Given the description of an element on the screen output the (x, y) to click on. 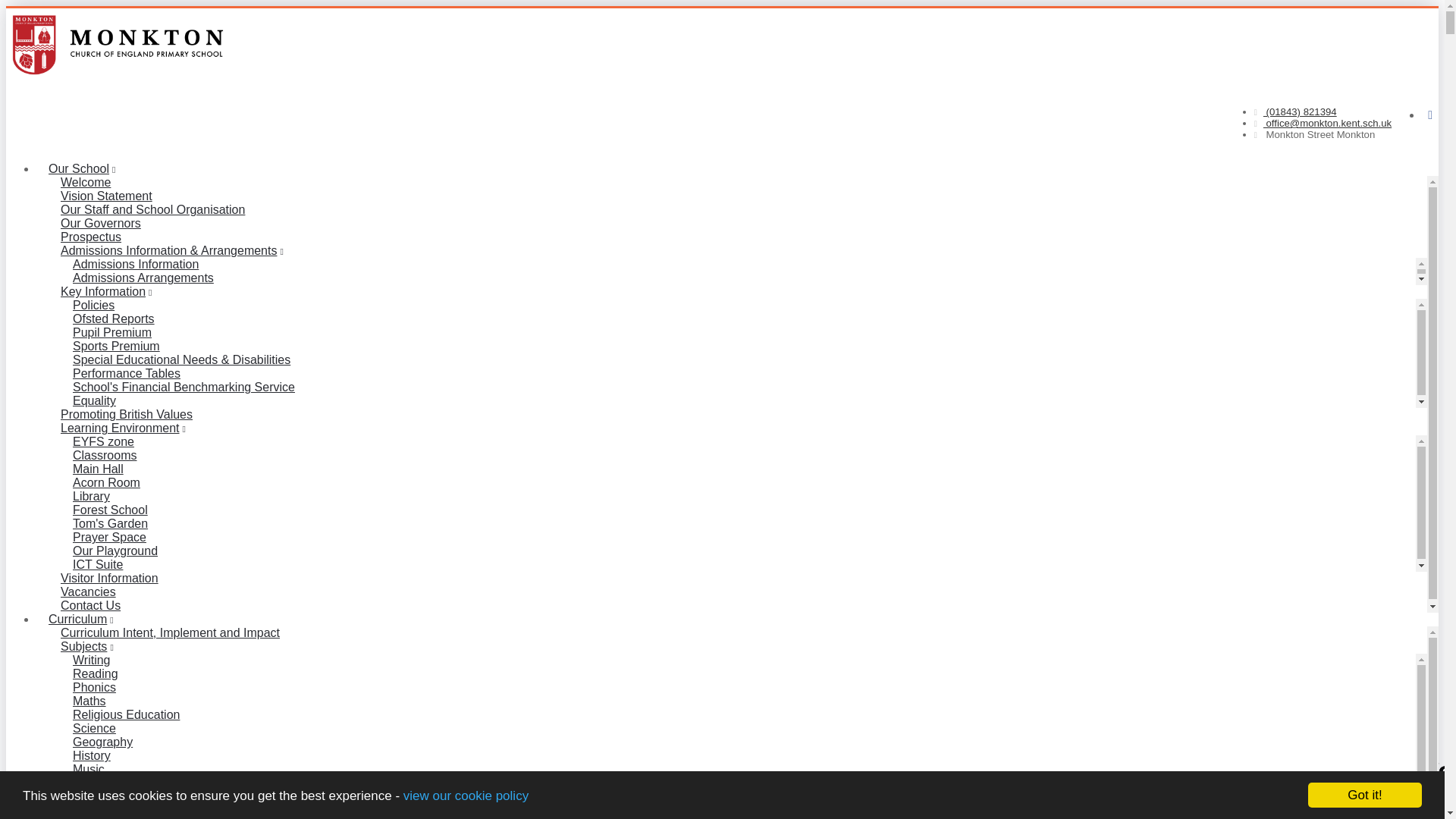
Performance Tables (126, 373)
Forest School (110, 509)
Learning Environment (123, 427)
Prayer Space (109, 537)
Prospectus (90, 236)
Our Playground (115, 550)
School's Financial Benchmarking Service (184, 386)
Classrooms (104, 455)
Sports Premium (116, 345)
Main Hall (98, 468)
Library (91, 496)
Welcome (85, 181)
Admissions Information (136, 263)
Pupil Premium (112, 332)
Admissions Arrangements (143, 277)
